Given the description of an element on the screen output the (x, y) to click on. 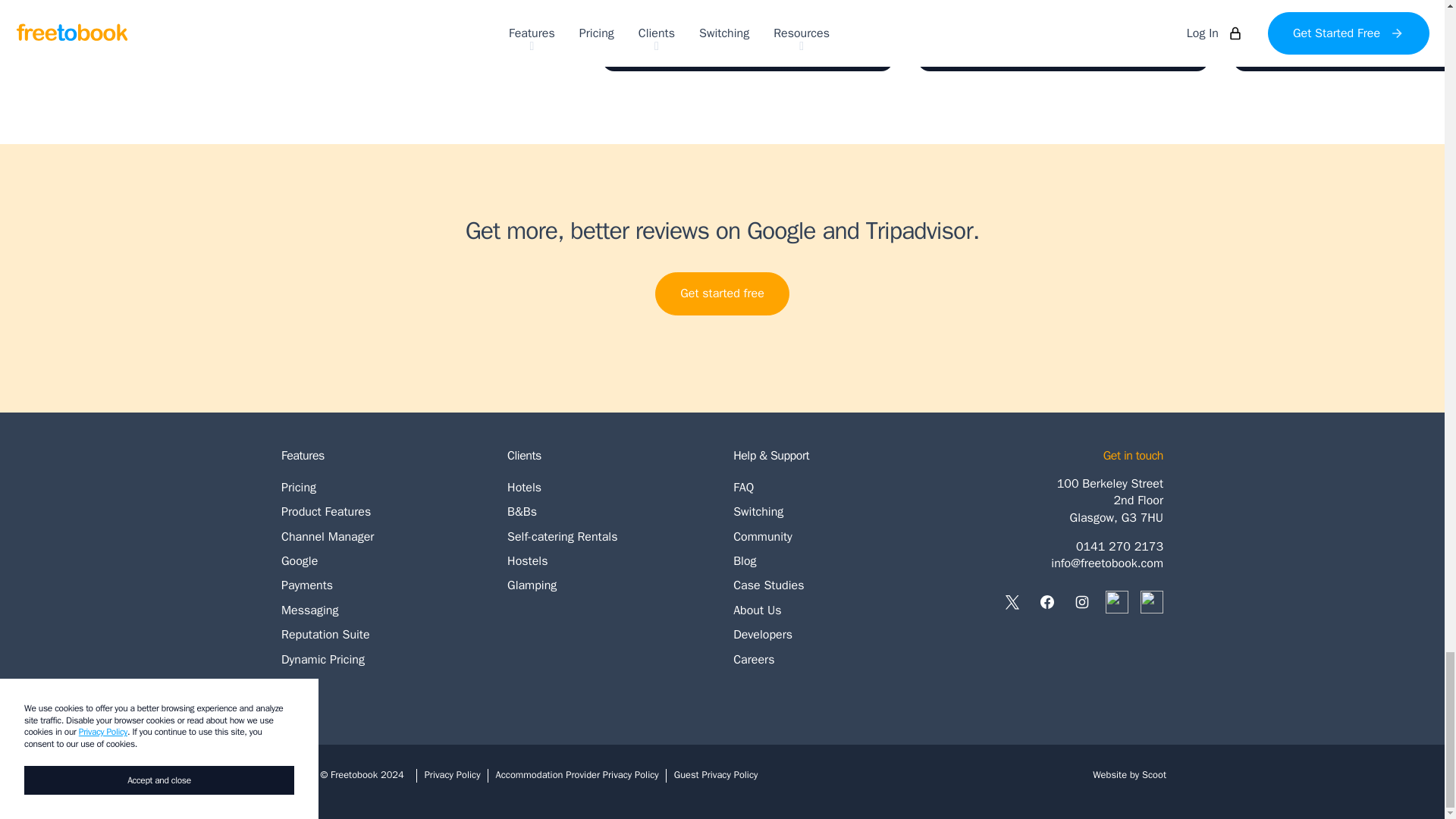
Product Features (382, 511)
Channel Manager (382, 536)
Google (1062, 35)
Pricing (382, 560)
Get started free (382, 487)
